Given the description of an element on the screen output the (x, y) to click on. 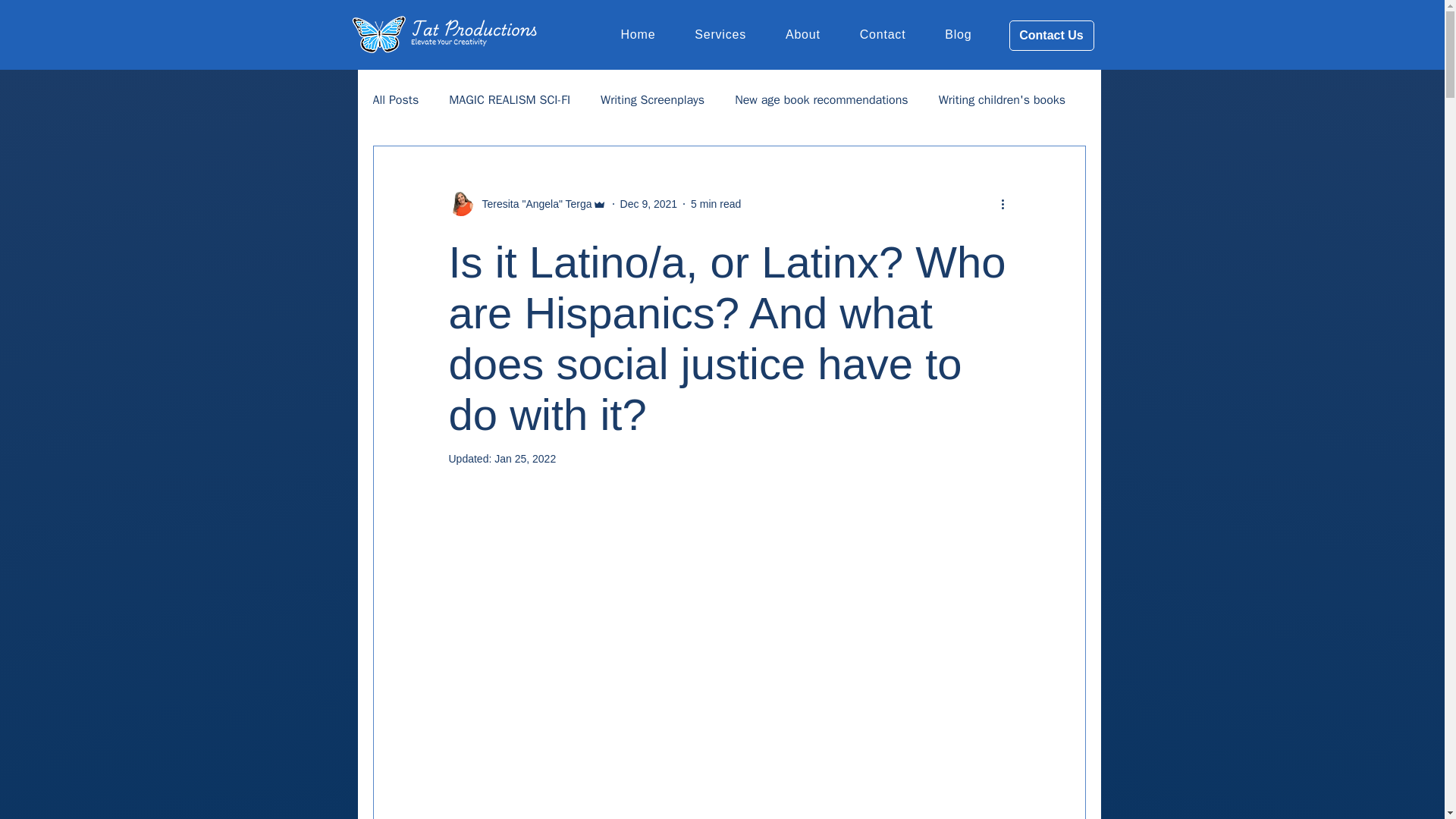
Dec 9, 2021 (649, 203)
Jan 25, 2022 (525, 458)
Blog (958, 34)
MAGIC REALISM SCI-FI (509, 100)
All Posts (395, 100)
New age book recommendations (821, 100)
Teresita "Angela" Terga (532, 203)
About (802, 34)
Home (637, 34)
5 min read (715, 203)
